Given the description of an element on the screen output the (x, y) to click on. 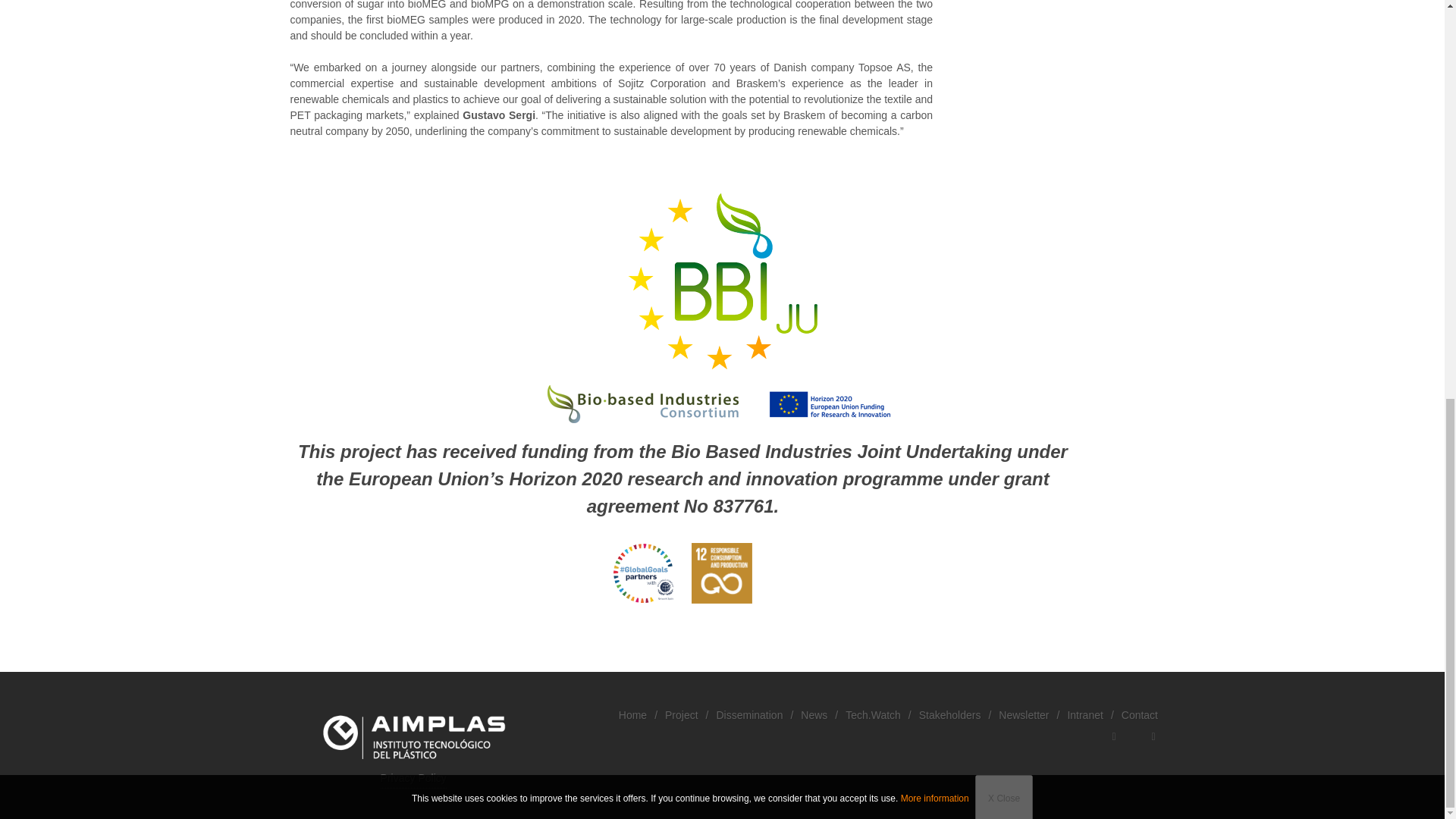
Newsletter (1023, 714)
Home (632, 714)
Privacy Policy (413, 778)
More information (935, 21)
Intranet (1084, 714)
News (813, 714)
Project (681, 714)
Tech.Watch (873, 714)
Contact (1139, 714)
Stakeholders (949, 714)
X Close (1003, 22)
Dissemination (749, 714)
